Given the description of an element on the screen output the (x, y) to click on. 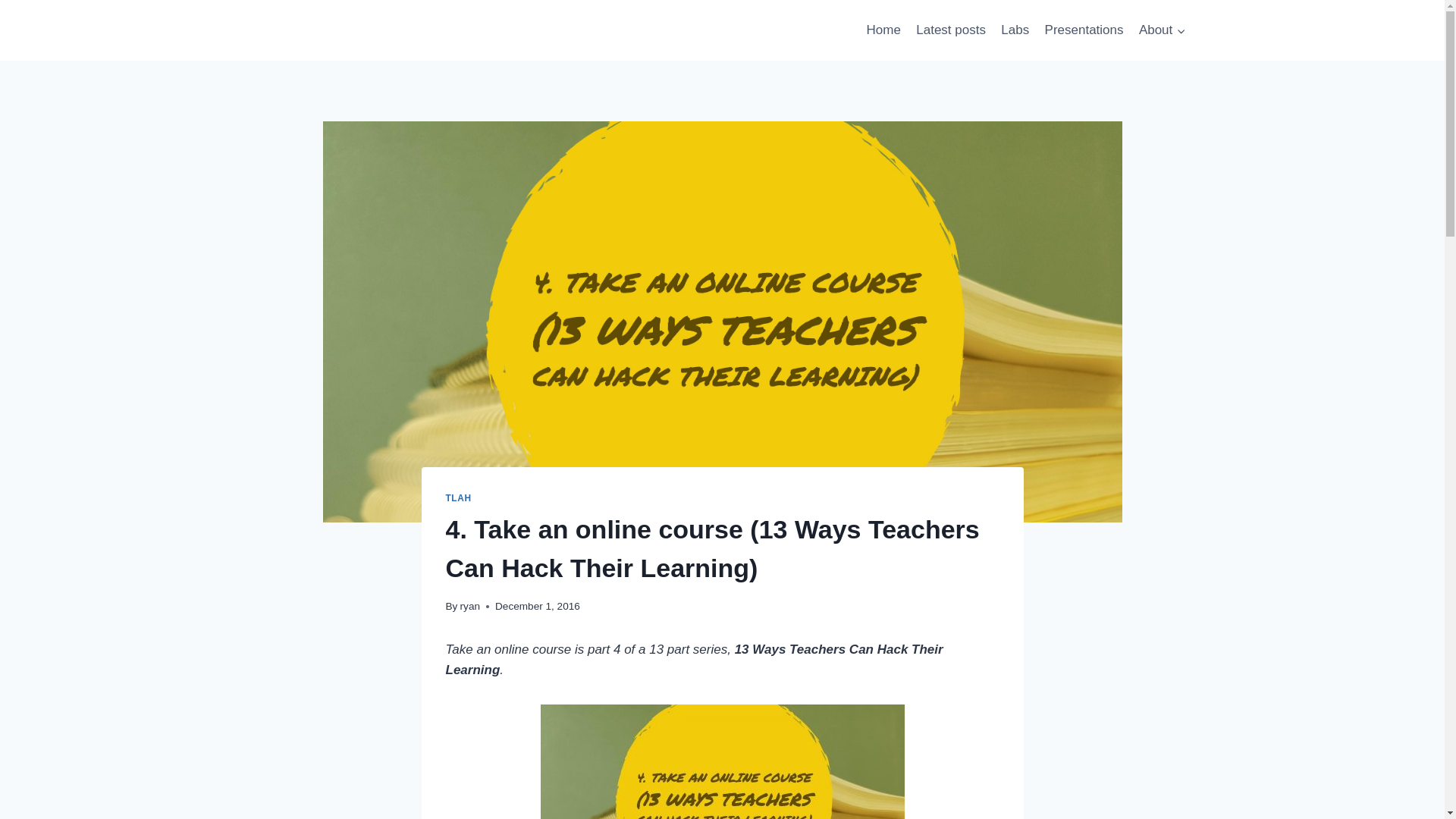
Presentations (1083, 30)
ryan (470, 605)
About (1162, 30)
Eduk8me Labs (1014, 30)
Home (883, 30)
TLAH (458, 498)
Labs (1014, 30)
Latest posts (950, 30)
